Given the description of an element on the screen output the (x, y) to click on. 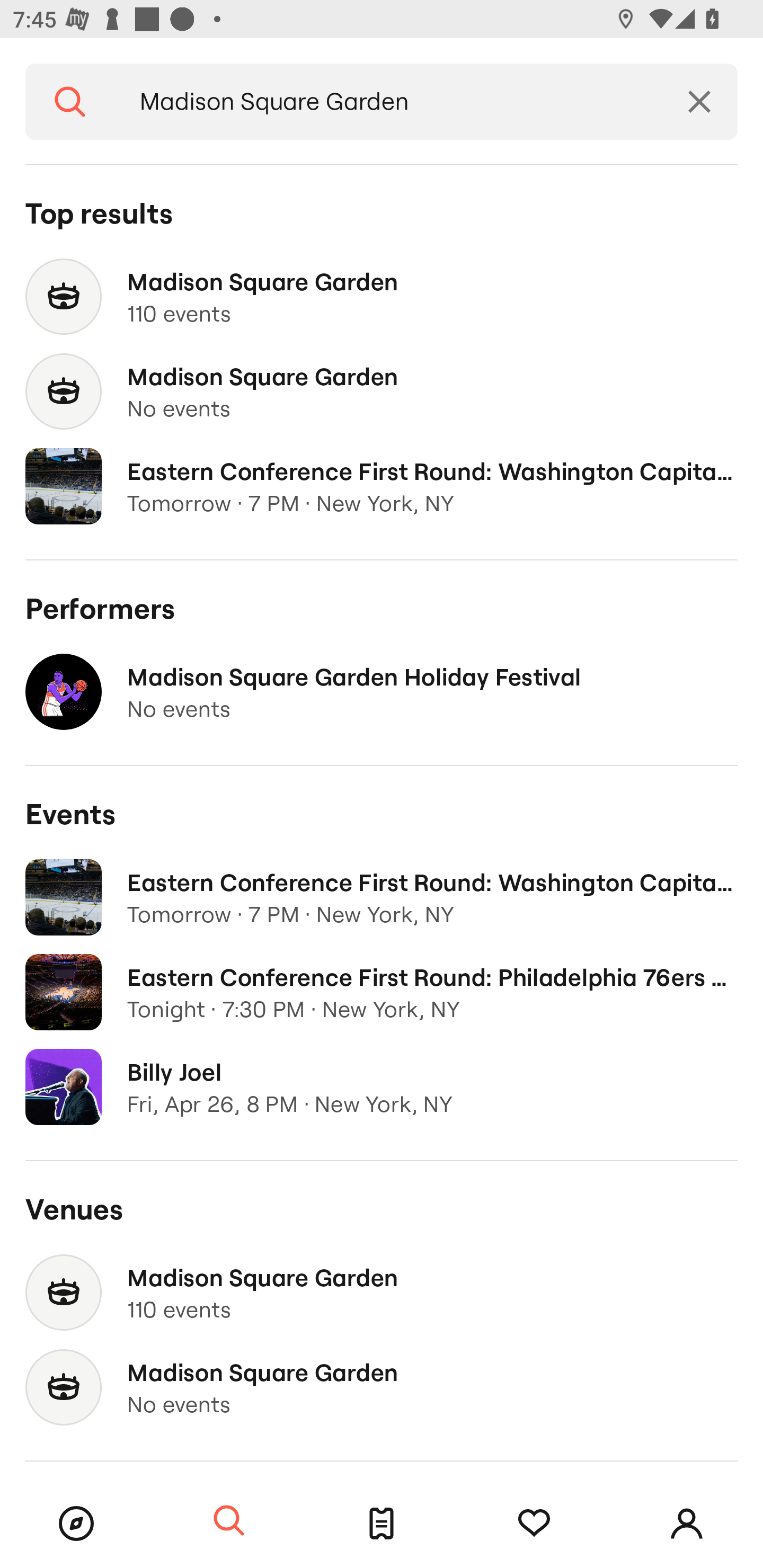
Search (69, 101)
Madison Square Garden (387, 101)
Clear (699, 101)
Madison Square Garden 110 events (381, 296)
Madison Square Garden No events (381, 391)
Madison Square Garden Holiday Festival No events (381, 692)
Billy Joel Fri, Apr 26, 8 PM · New York, NY (381, 1087)
Madison Square Garden 110 events (381, 1292)
Madison Square Garden No events (381, 1387)
Browse (76, 1523)
Search (228, 1521)
Tickets (381, 1523)
Tracking (533, 1523)
Account (686, 1523)
